Given the description of an element on the screen output the (x, y) to click on. 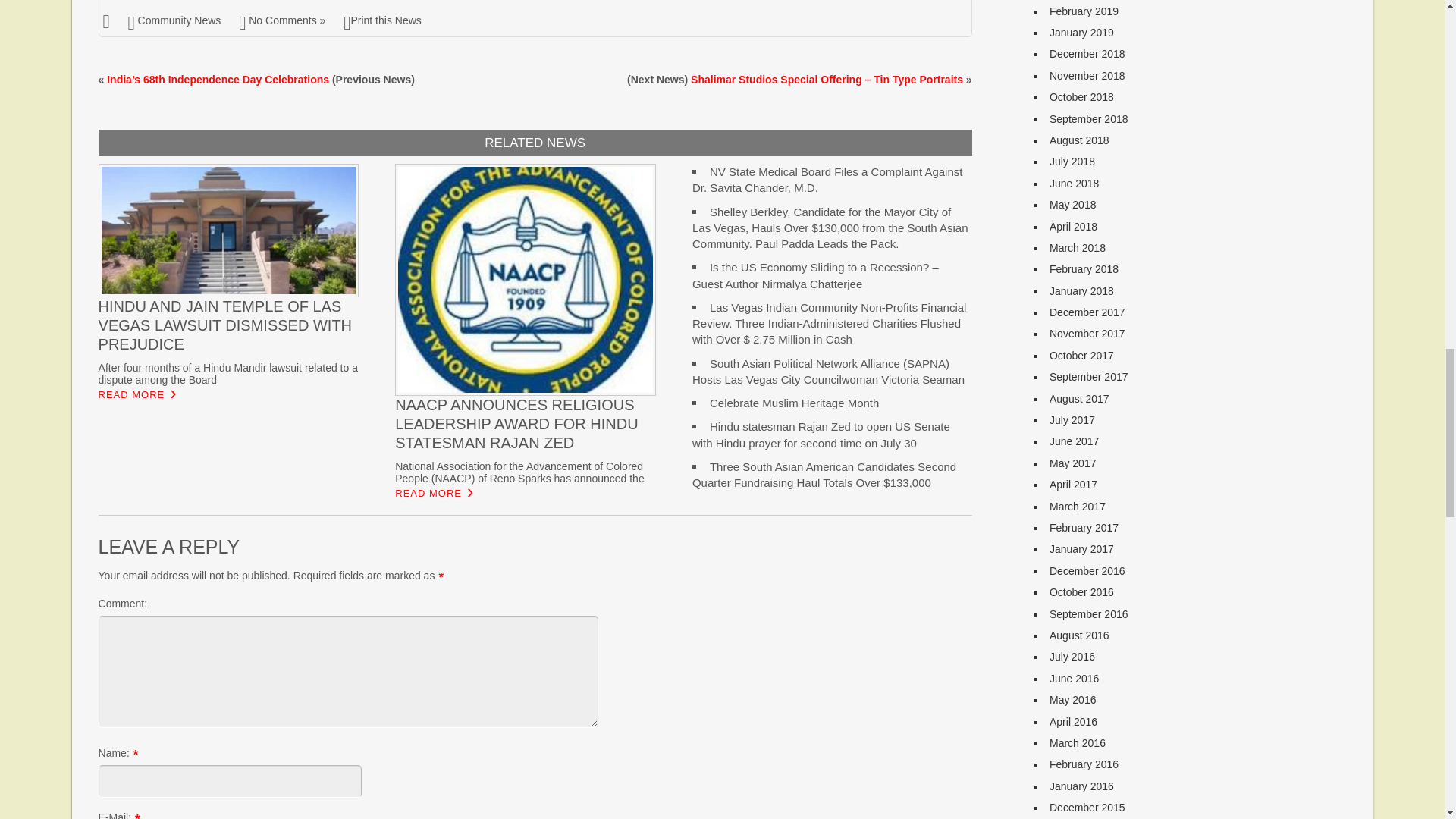
Celebrate Muslim Heritage Month (794, 402)
Print this News (382, 20)
Permanent Link to Celebrate Muslim Heritage Month (794, 402)
